Given the description of an element on the screen output the (x, y) to click on. 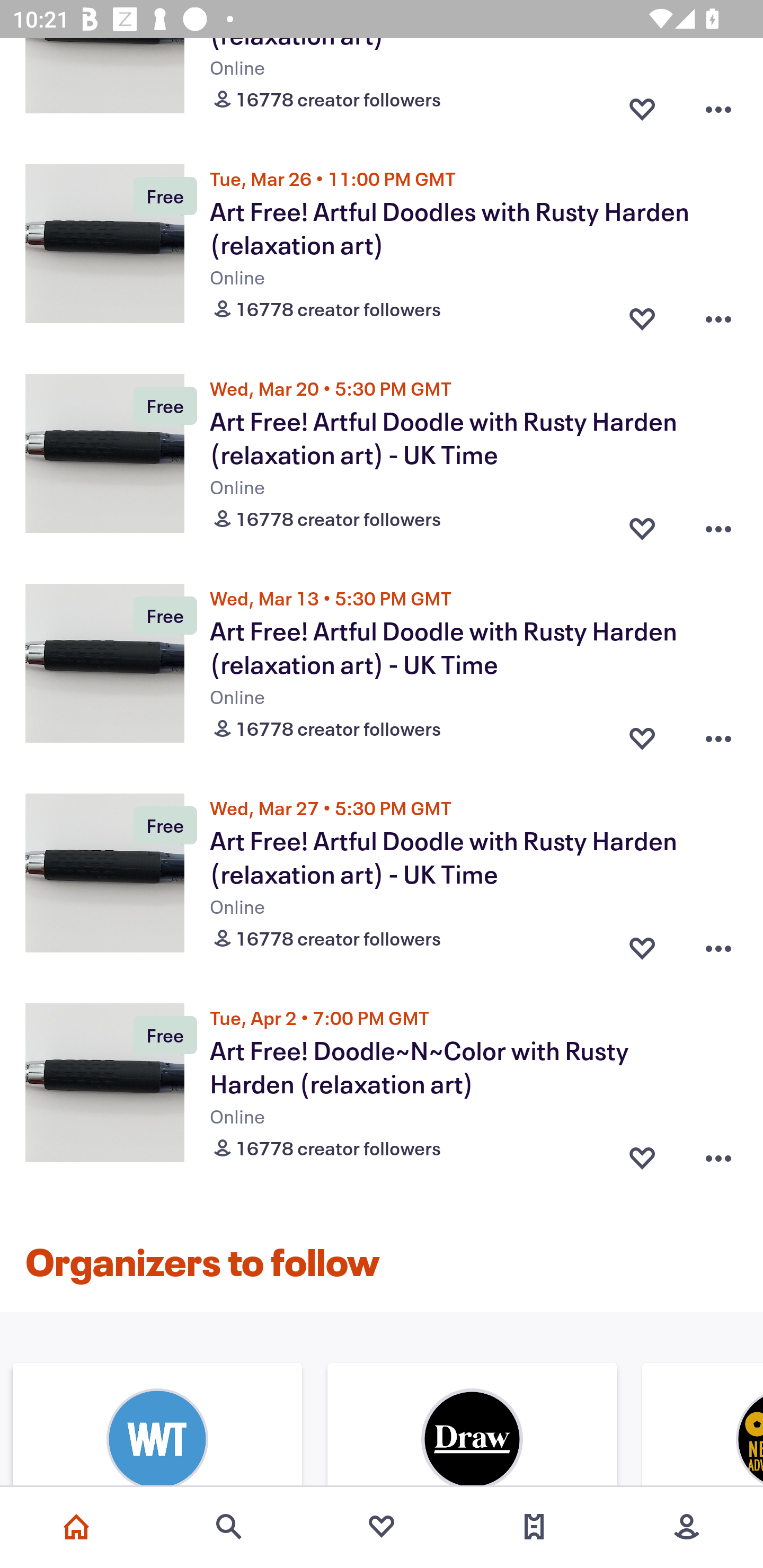
Favorite button (642, 105)
Overflow menu button (718, 105)
Favorite button (642, 314)
Overflow menu button (718, 314)
Favorite button (642, 524)
Overflow menu button (718, 524)
Favorite button (642, 734)
Overflow menu button (718, 734)
Favorite button (642, 944)
Overflow menu button (718, 944)
Favorite button (642, 1153)
Overflow menu button (718, 1153)
Organizer's image (157, 1426)
Organizer's image (471, 1426)
Home (76, 1526)
Search events (228, 1526)
Favorites (381, 1526)
Tickets (533, 1526)
More (686, 1526)
